Given the description of an element on the screen output the (x, y) to click on. 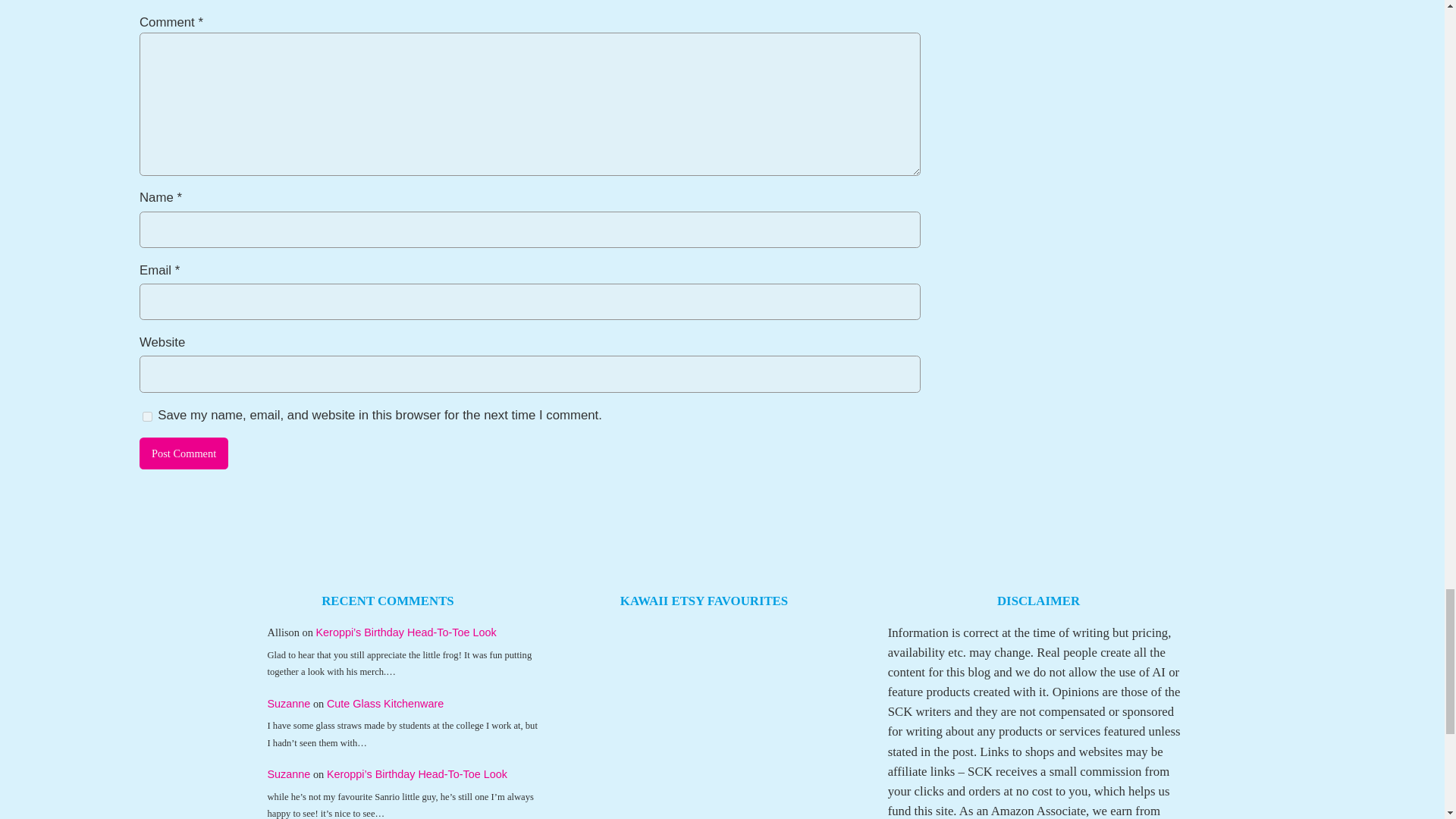
yes (147, 416)
Post Comment (183, 453)
